Given the description of an element on the screen output the (x, y) to click on. 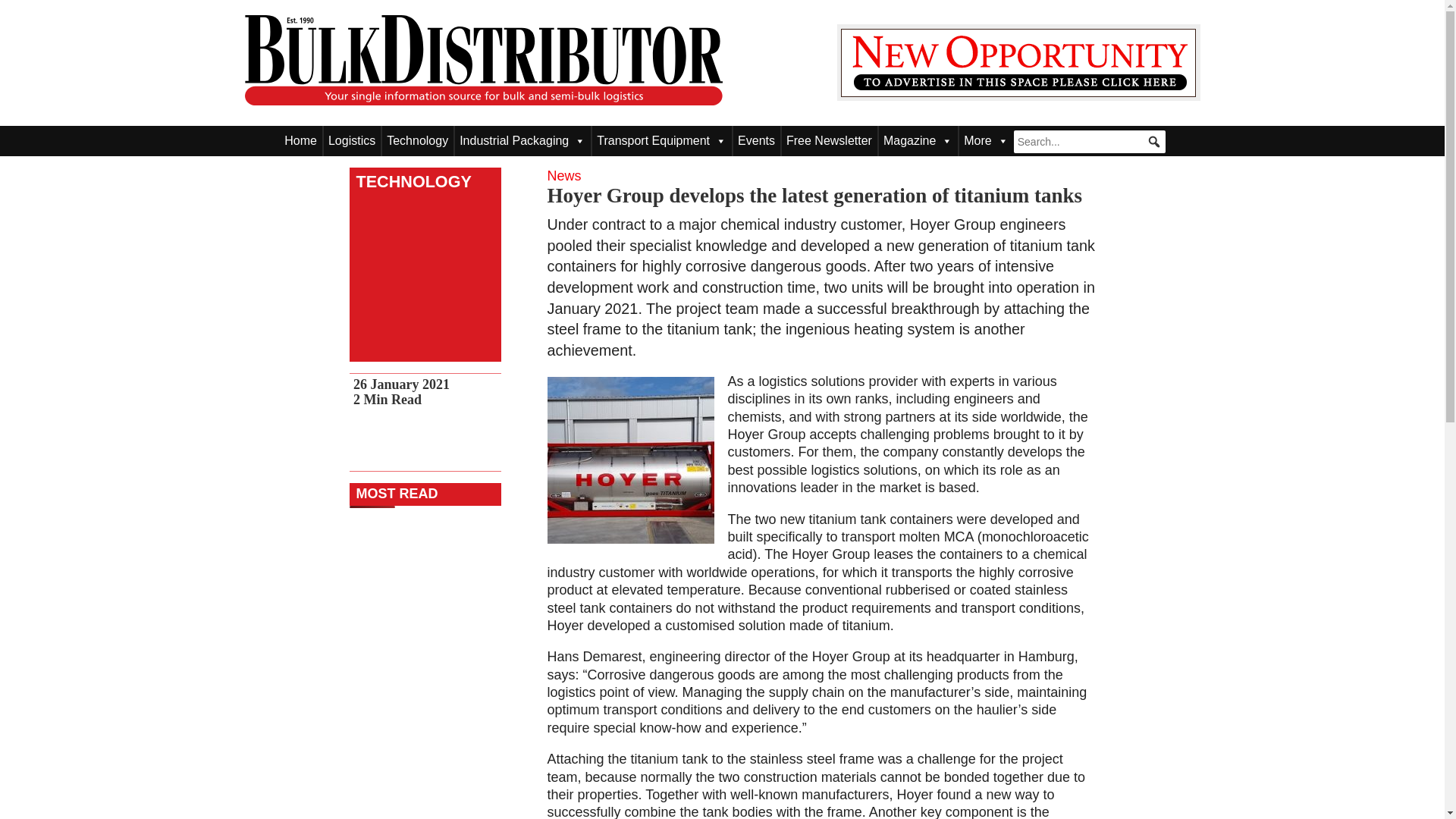
Bulk Distributor (483, 100)
Bulk Distributor (483, 60)
Industrial Packaging (522, 141)
Home (300, 141)
More (985, 141)
Magazine (917, 141)
Search (22, 8)
Free Newsletter (828, 141)
link to Technology section (409, 181)
Events (756, 141)
